Given the description of an element on the screen output the (x, y) to click on. 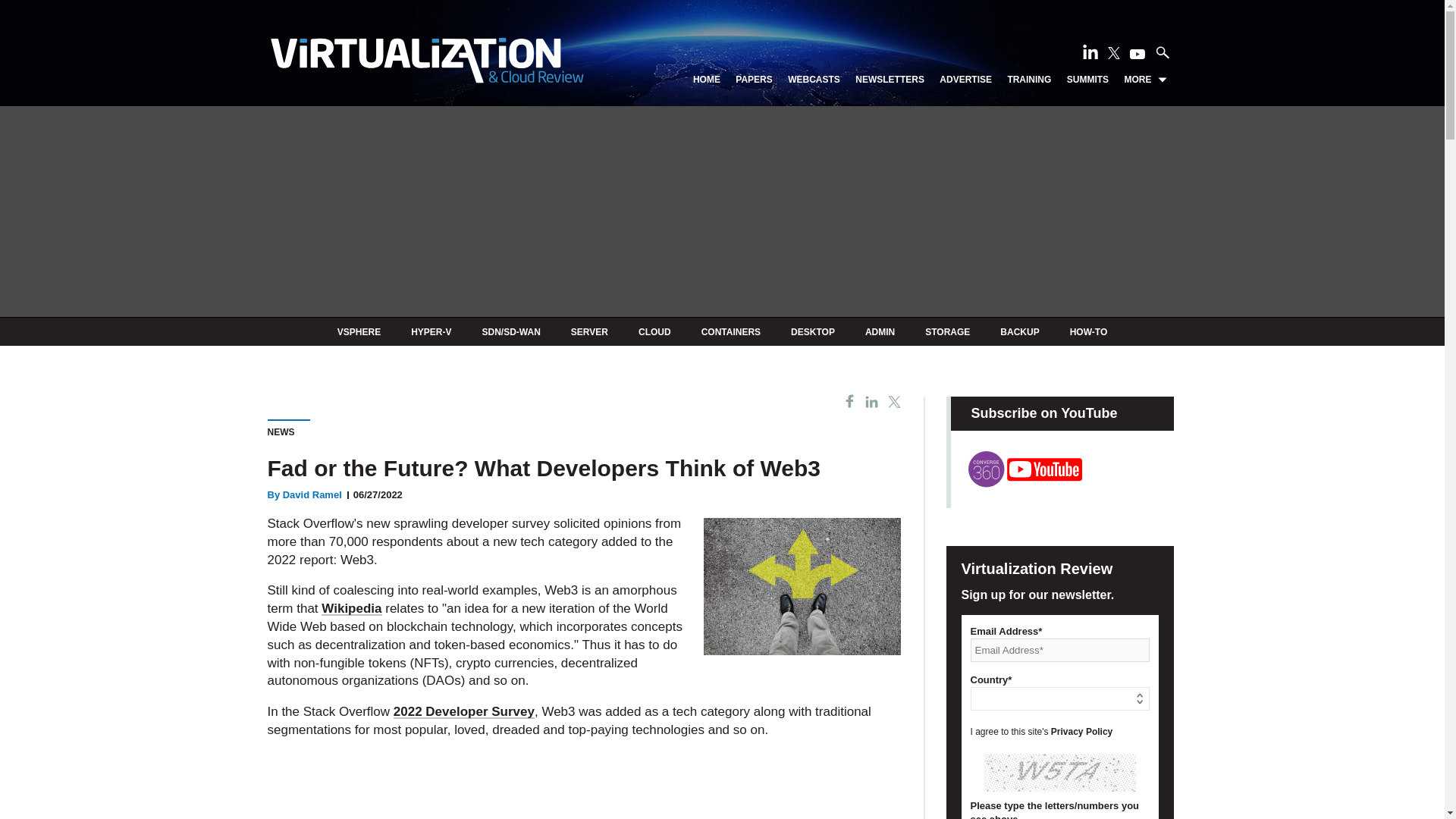
VSPHERE (358, 331)
TRAINING (1029, 79)
MORE (1145, 79)
CLOUD (655, 331)
HOME (706, 79)
PAPERS (753, 79)
WEBCASTS (813, 79)
HYPER-V (430, 331)
SUMMITS (1087, 79)
